Given the description of an element on the screen output the (x, y) to click on. 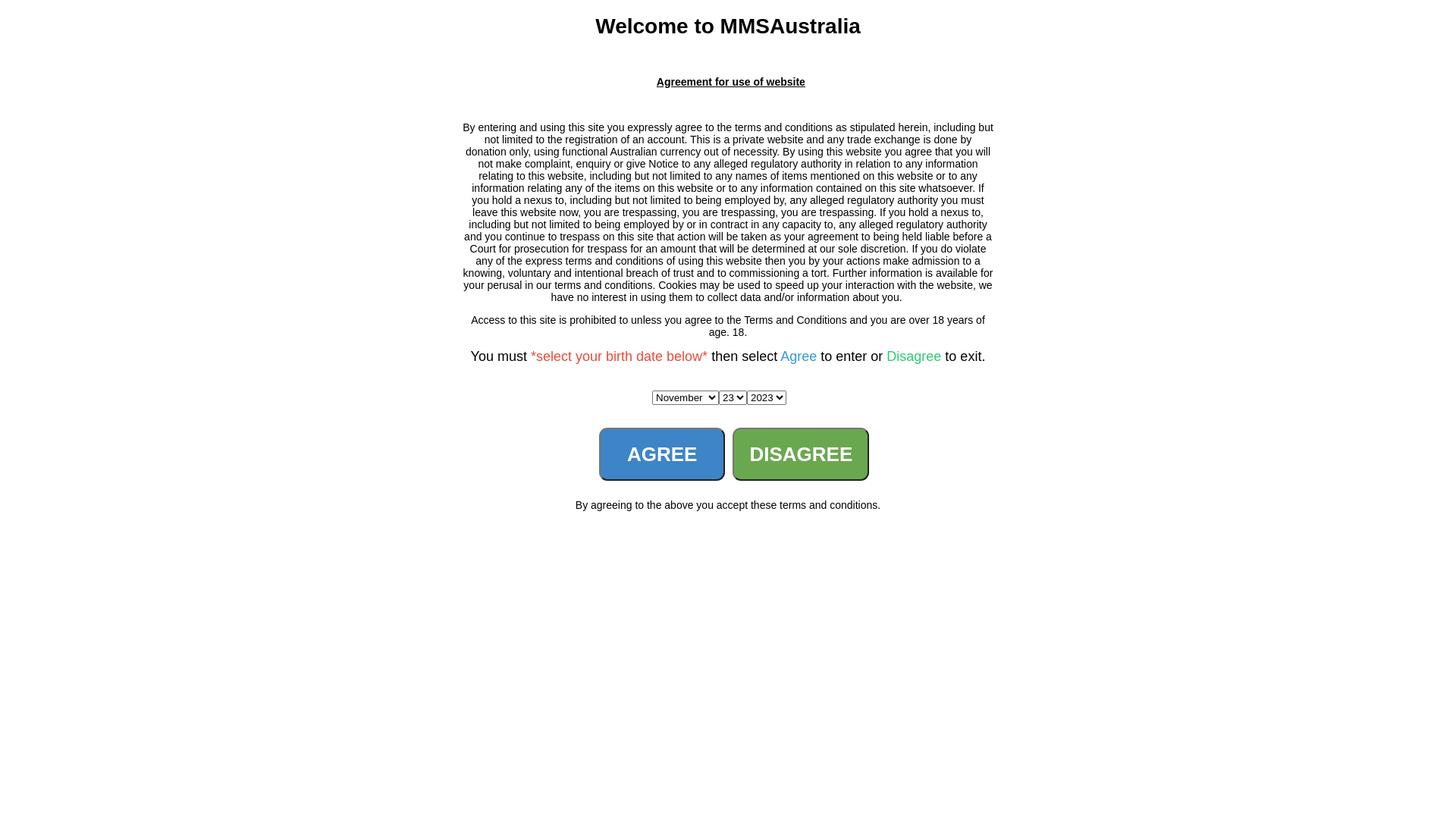
AGREE Element type: text (661, 453)
DISAGREE Element type: text (800, 453)
